Given the description of an element on the screen output the (x, y) to click on. 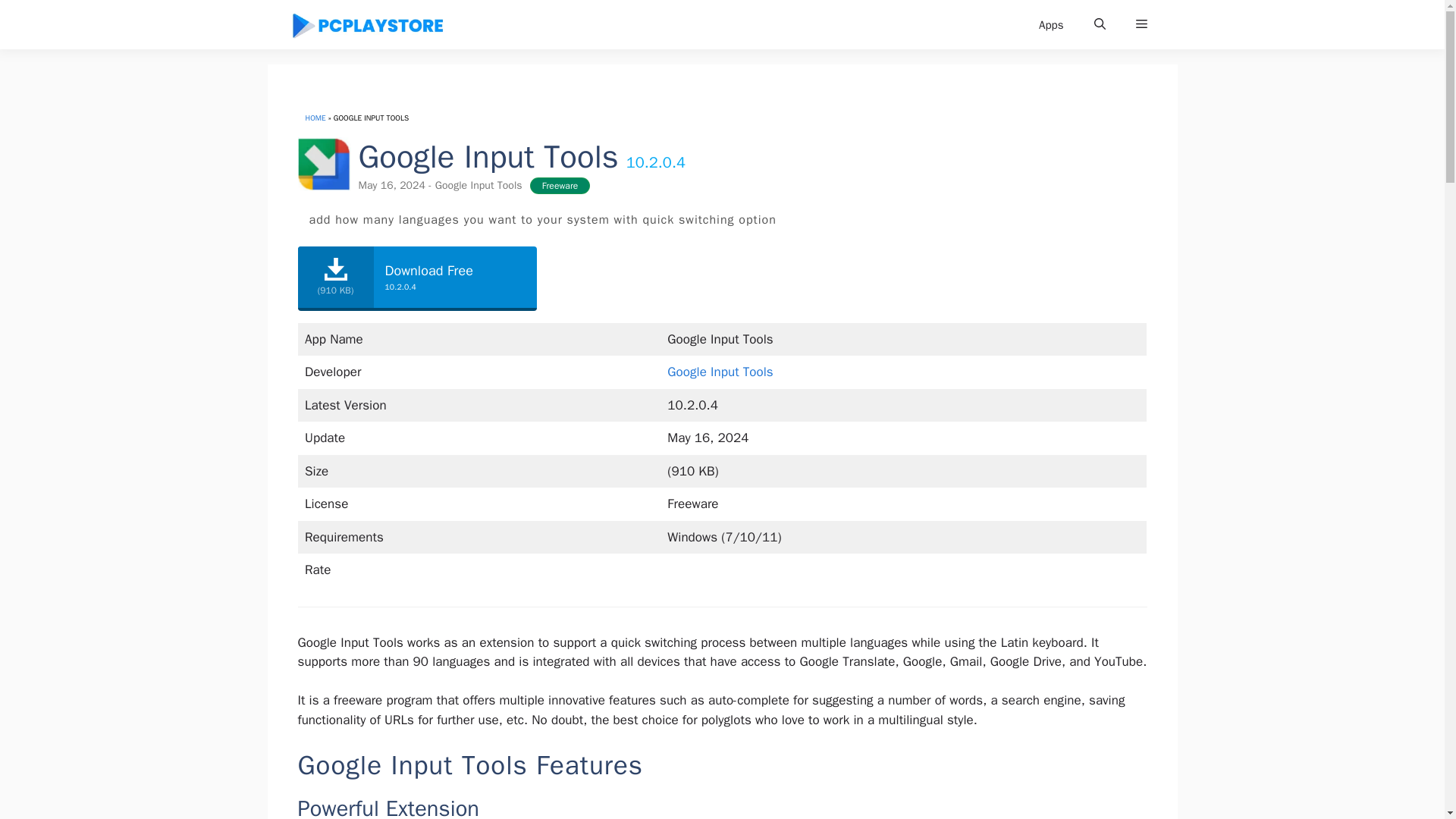
HOME (314, 117)
Apps (1050, 23)
Google Input Tools (719, 371)
PCPlayStore (367, 24)
